Given the description of an element on the screen output the (x, y) to click on. 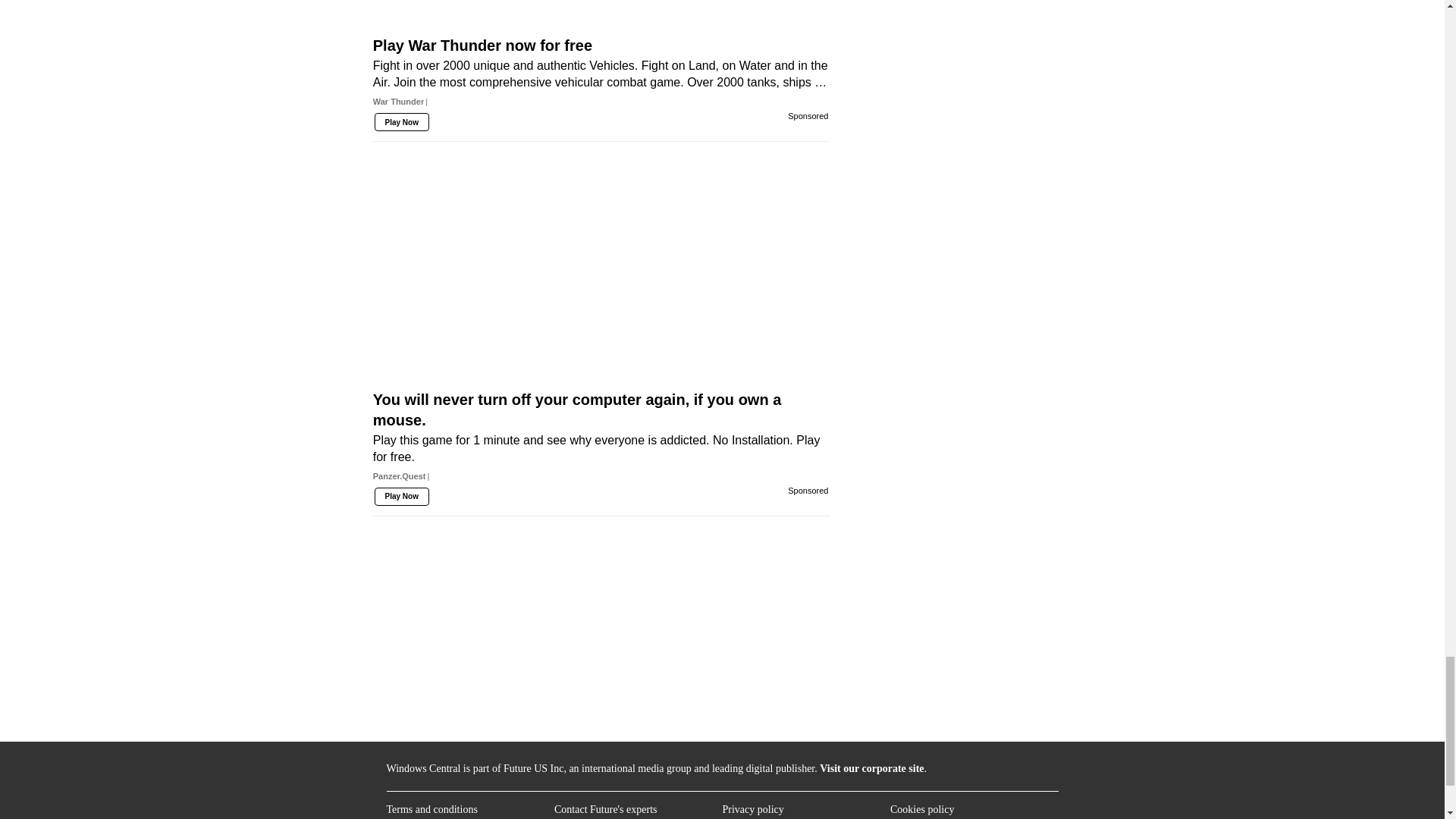
Play War Thunder now for free (600, 78)
Play War Thunder now for free (600, 15)
